Given the description of an element on the screen output the (x, y) to click on. 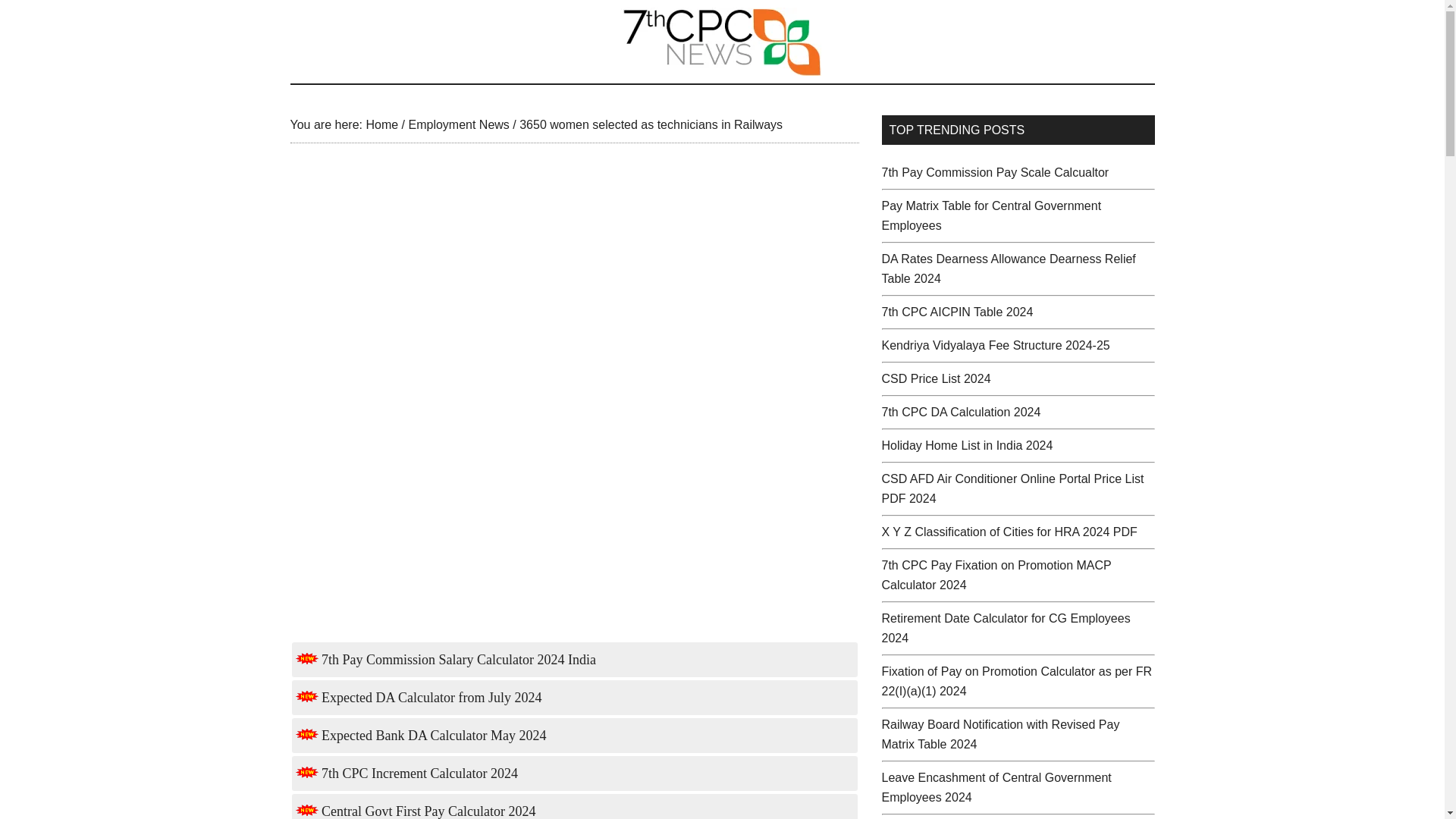
7th Pay Commission Pay Scale Calcualtor (994, 172)
7th Pay Commission Salary Calculator 2024 India (445, 659)
Holiday Home List in India 2024 (966, 445)
Central Govt First Pay Calculator 2024 (415, 811)
Home (381, 124)
7th CPC Pay Fixation on Promotion MACP Calculator 2024 (995, 574)
Leave Encashment of Central Government Employees 2024 (995, 787)
7th Central Pay Commission Pay Scale Conversion Calcualtor (994, 172)
Expected DA Calculator from July 2024 (418, 697)
